Given the description of an element on the screen output the (x, y) to click on. 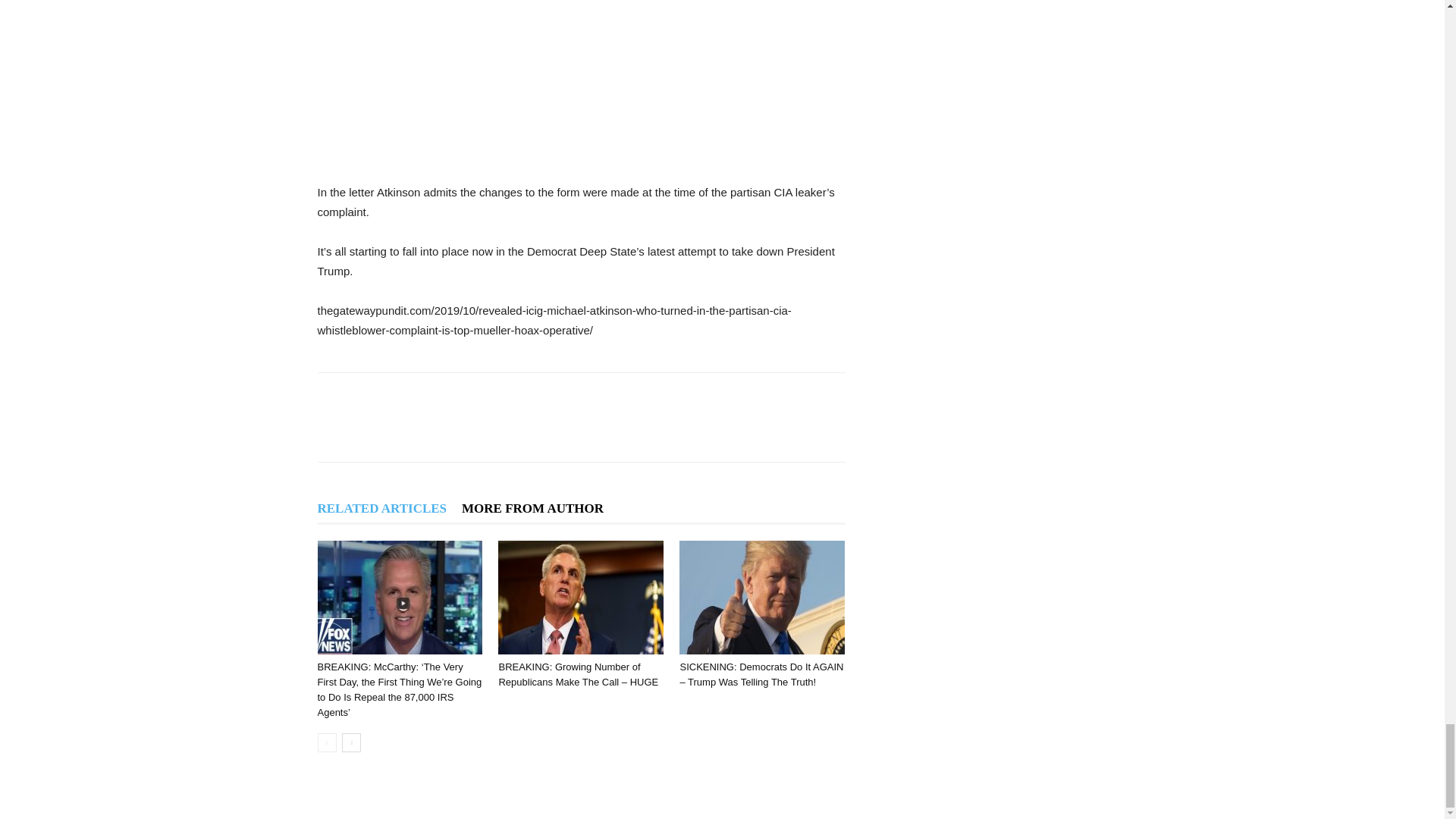
ICIG Statement on Processing of Whistleblower Complaints (580, 78)
RELATED ARTICLES (381, 508)
MORE FROM AUTHOR (532, 508)
